Given the description of an element on the screen output the (x, y) to click on. 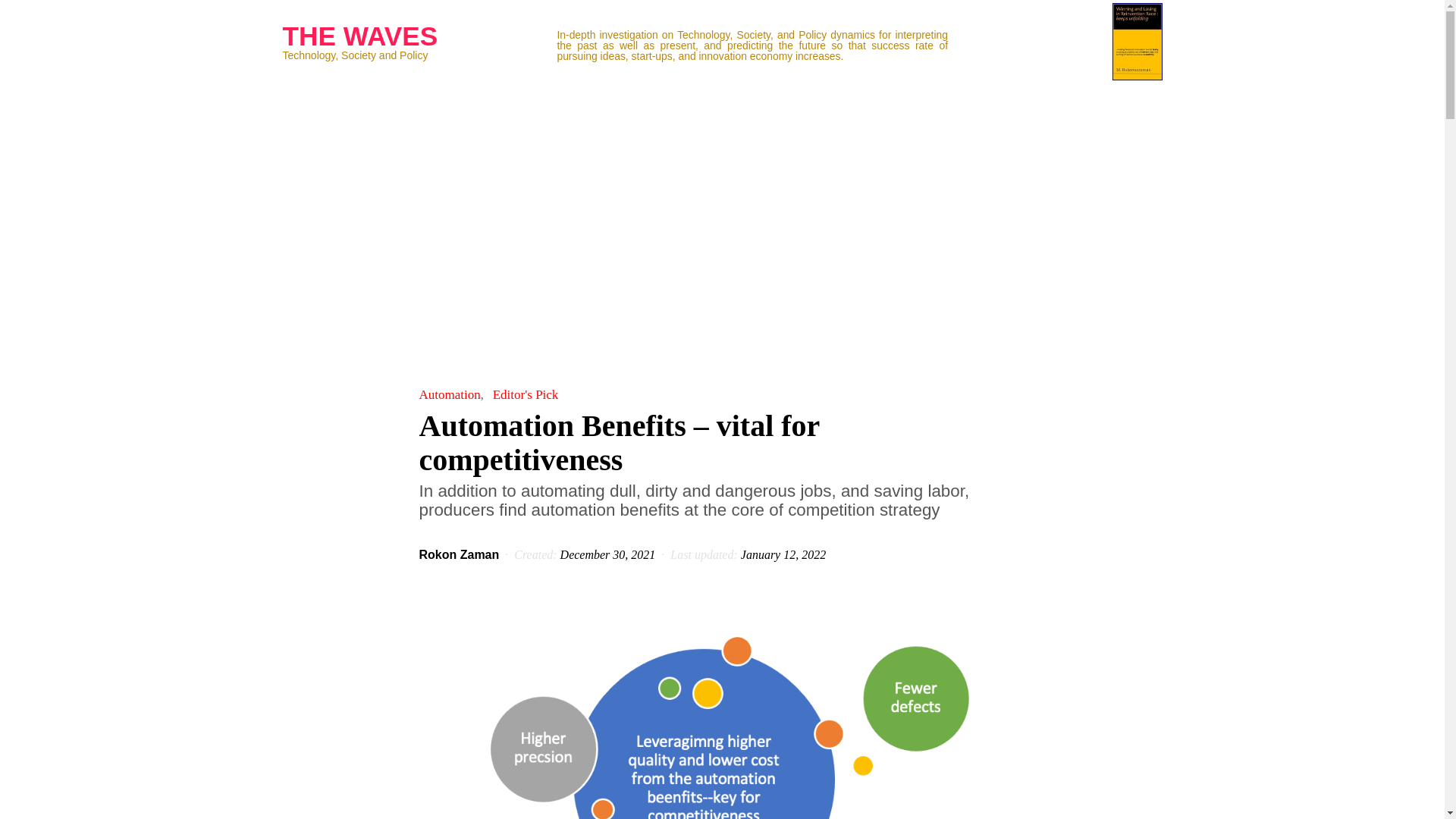
View all posts by Rokon Zaman (459, 554)
